Given the description of an element on the screen output the (x, y) to click on. 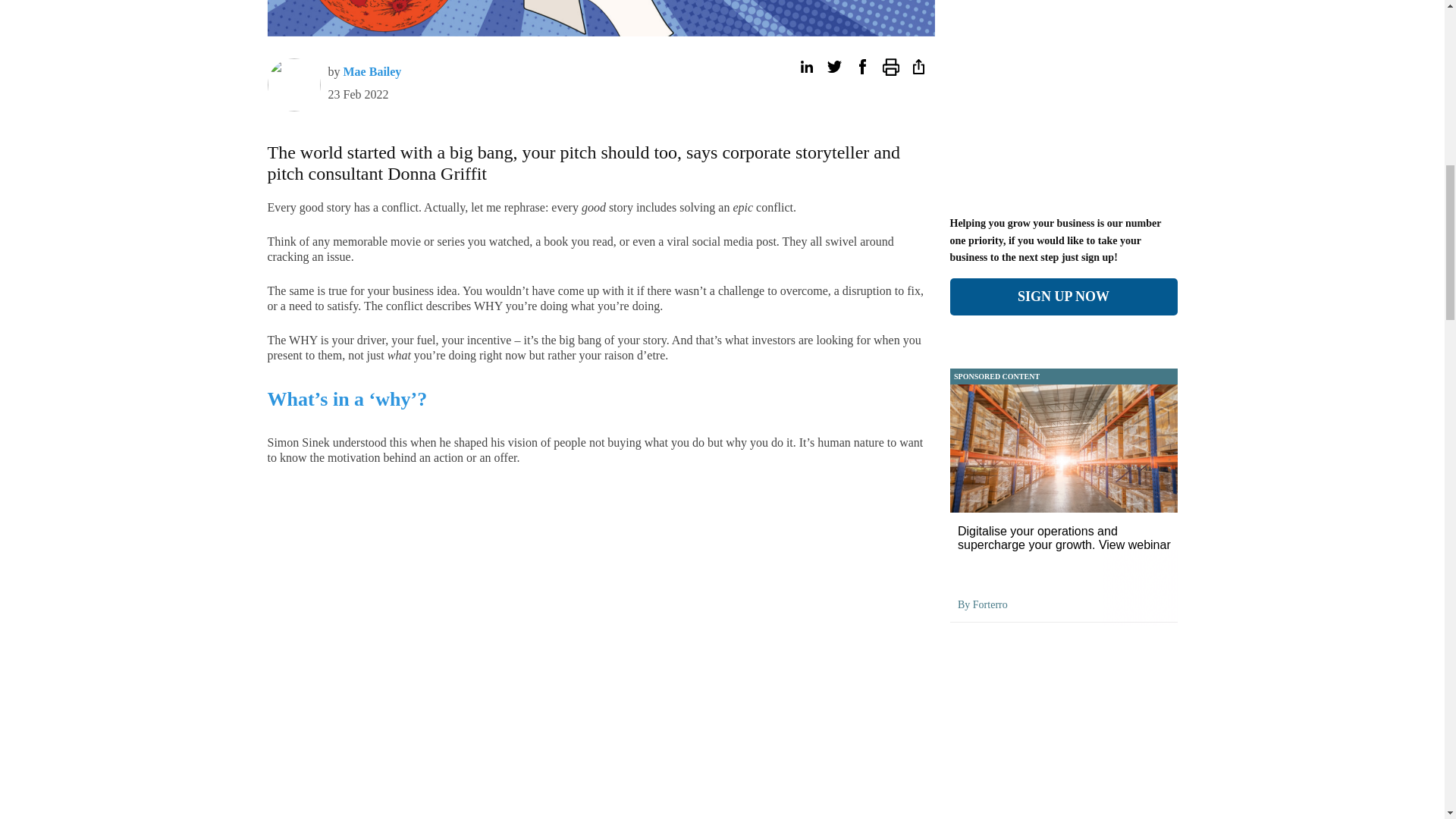
3rd party ad content (195, 4)
3rd party ad content (1249, 4)
Share on Facebook (861, 67)
Print this article (890, 67)
Tweet this article (835, 67)
Share on LinkedIn (805, 67)
